Given the description of an element on the screen output the (x, y) to click on. 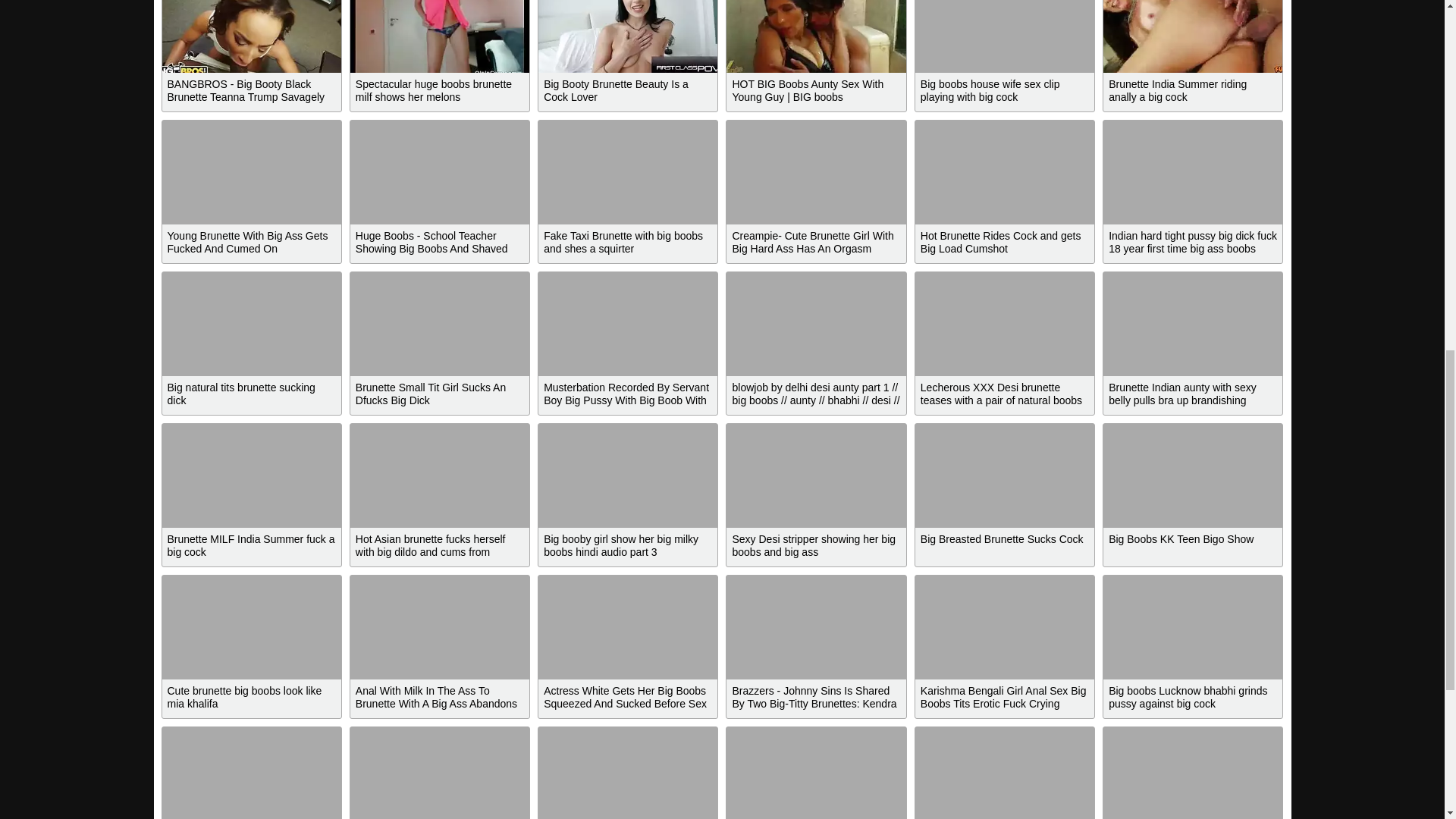
Spectacular huge boobs brunette milf shows her melons (439, 36)
Big natural tits brunette sucking dick (250, 323)
Brunette India Summer riding anally a big cock (1192, 36)
Big Booty Brunette Beauty Is a Cock Lover (627, 36)
Brunette MILF India Summer fuck a big cock (250, 475)
Brunette Small Tit Girl Sucks An Dfucks Big Dick (439, 323)
Big boobs house wife sex clip playing with big cock (1004, 36)
Hot Brunette Rides Cock and gets Big Load Cumshot (1004, 172)
Young Brunette With Big Ass Gets Fucked And Cumed On (250, 172)
Fake Taxi Brunette with big boobs and shes a squirter (627, 172)
